Given the description of an element on the screen output the (x, y) to click on. 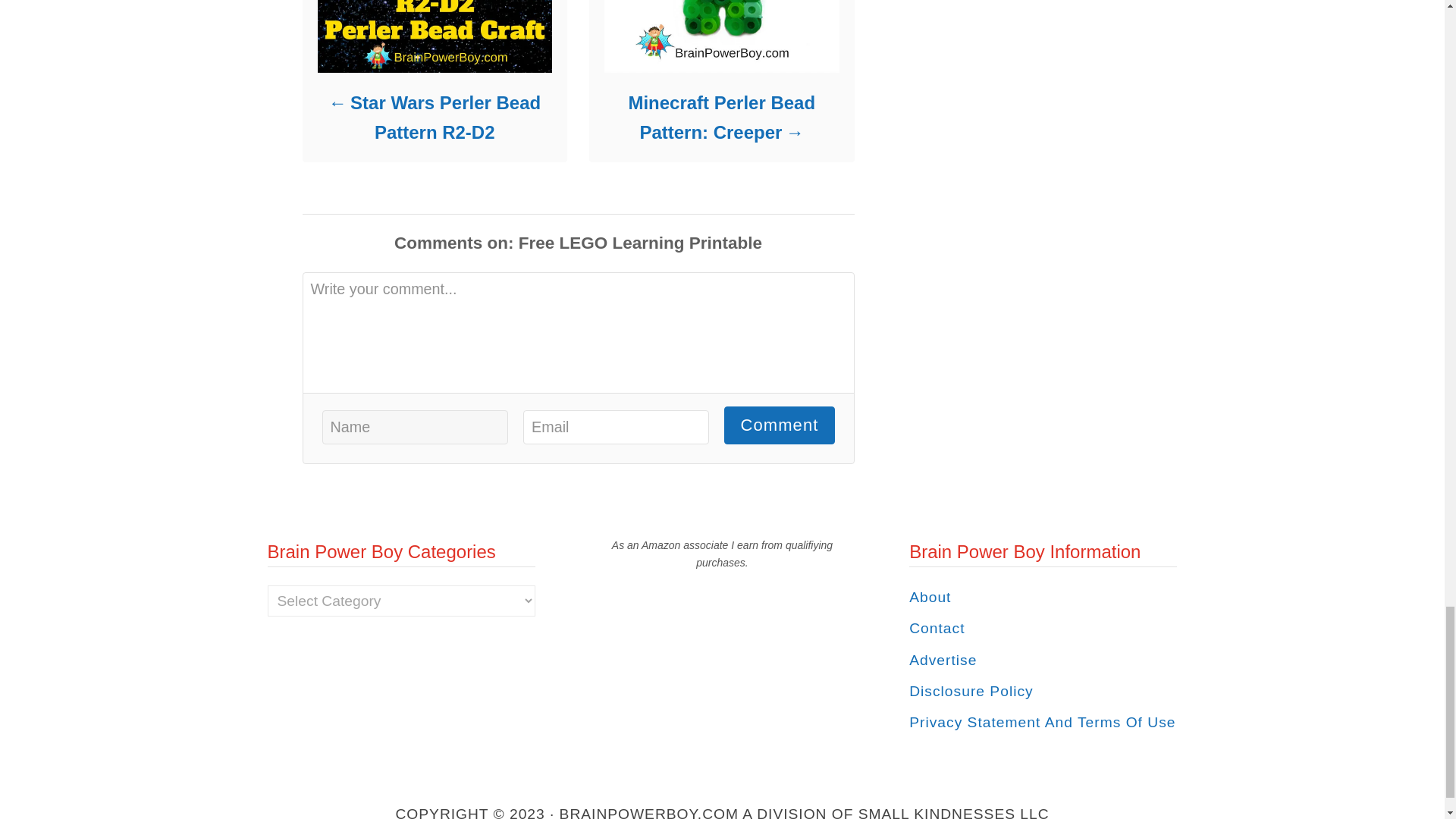
Comment (778, 425)
Star Wars Perler Bead Pattern R2-D2 (434, 117)
Minecraft Perler Bead Pattern: Creeper (721, 117)
